Given the description of an element on the screen output the (x, y) to click on. 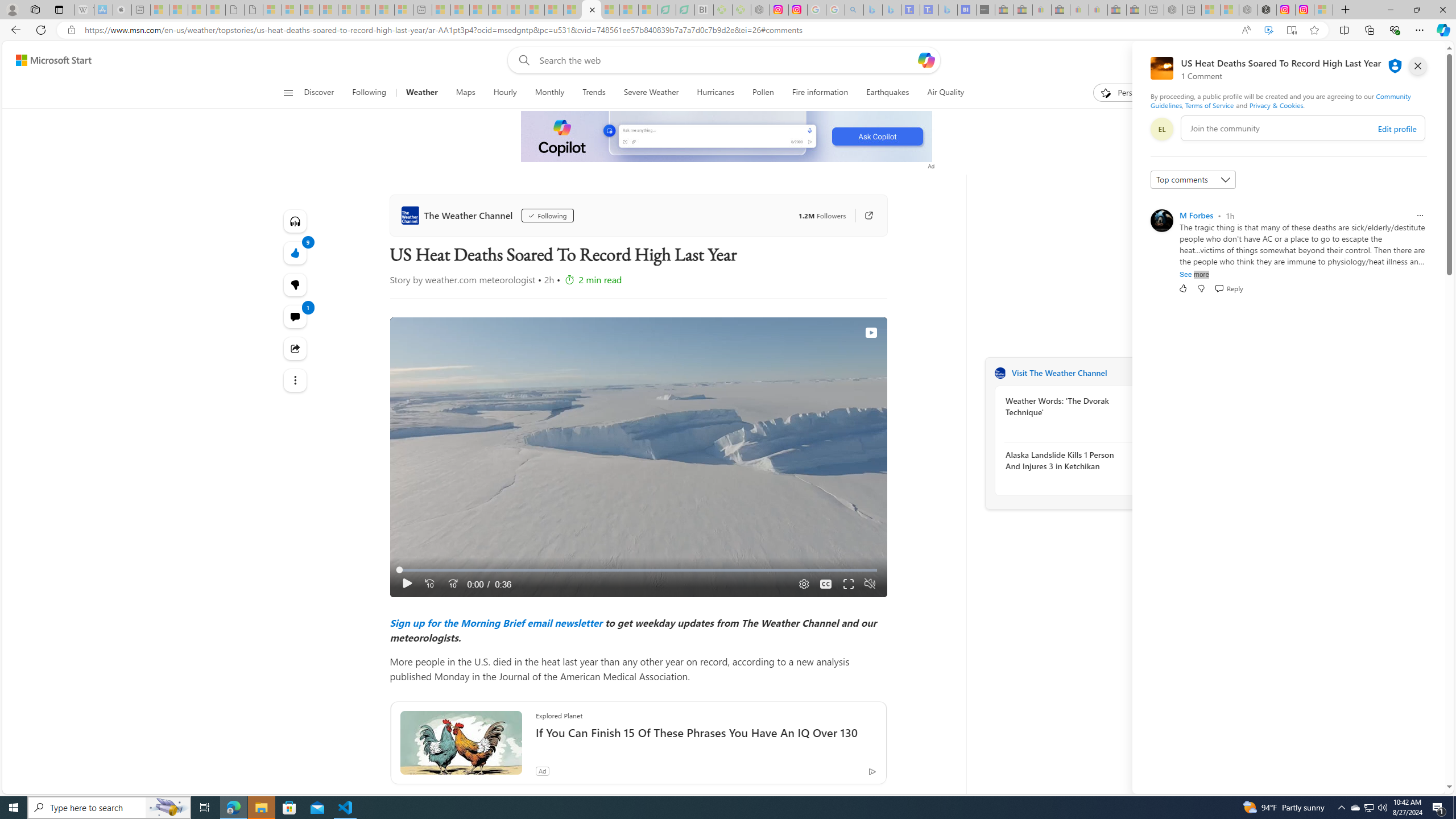
close (1417, 65)
Buy iPad - Apple - Sleeping (121, 9)
Terms of Service (1209, 104)
Class: at-item (295, 380)
To get missing image descriptions, open the context menu. (726, 136)
M Forbes (1196, 215)
Nordace - Summer Adventures 2024 (1267, 9)
Go to publisher's site (868, 215)
Edit profile (1396, 128)
Listen to this article (295, 220)
Pollen (763, 92)
Marine life - MSN - Sleeping (459, 9)
